Given the description of an element on the screen output the (x, y) to click on. 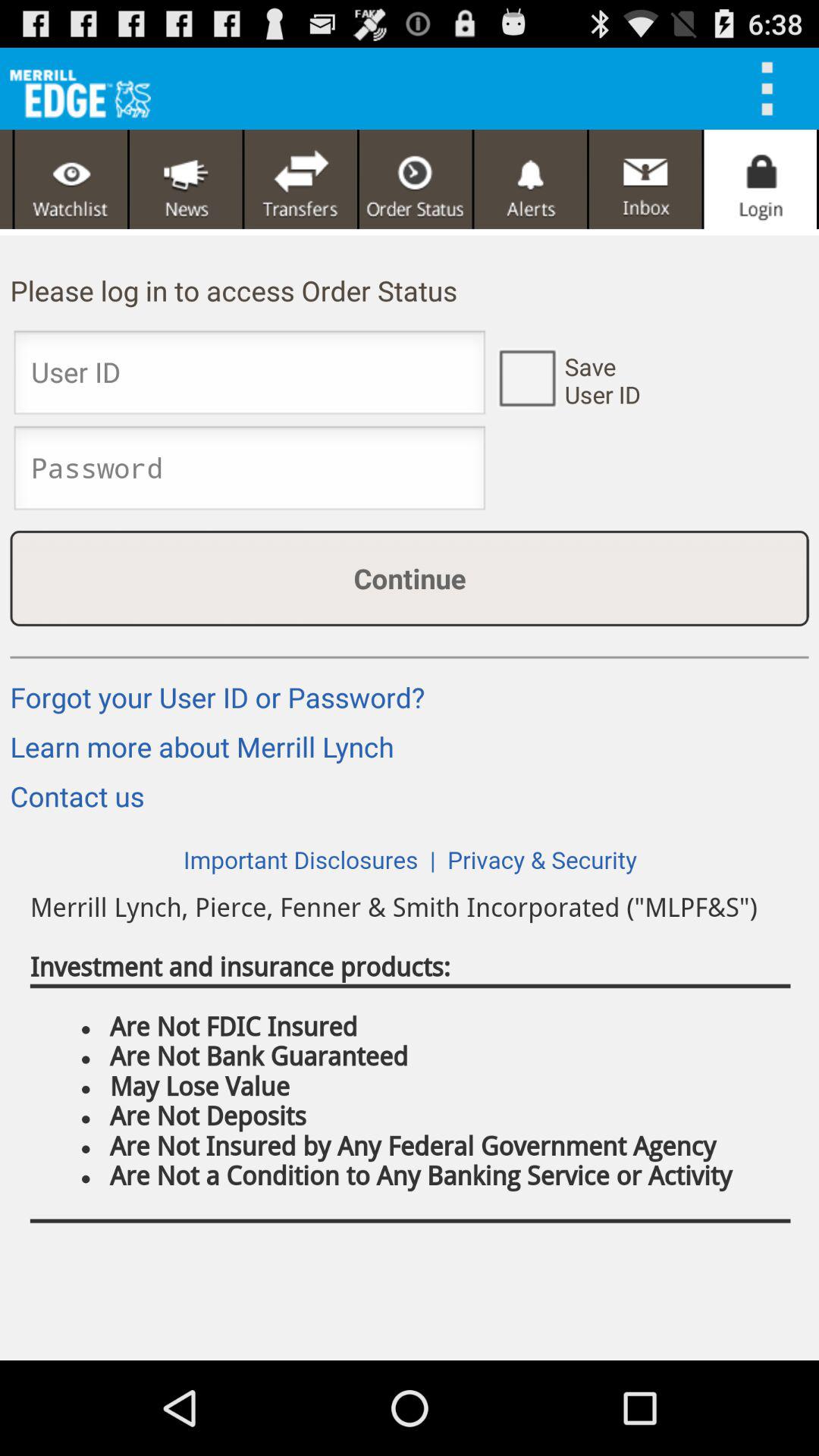
go to inbox (645, 179)
